Given the description of an element on the screen output the (x, y) to click on. 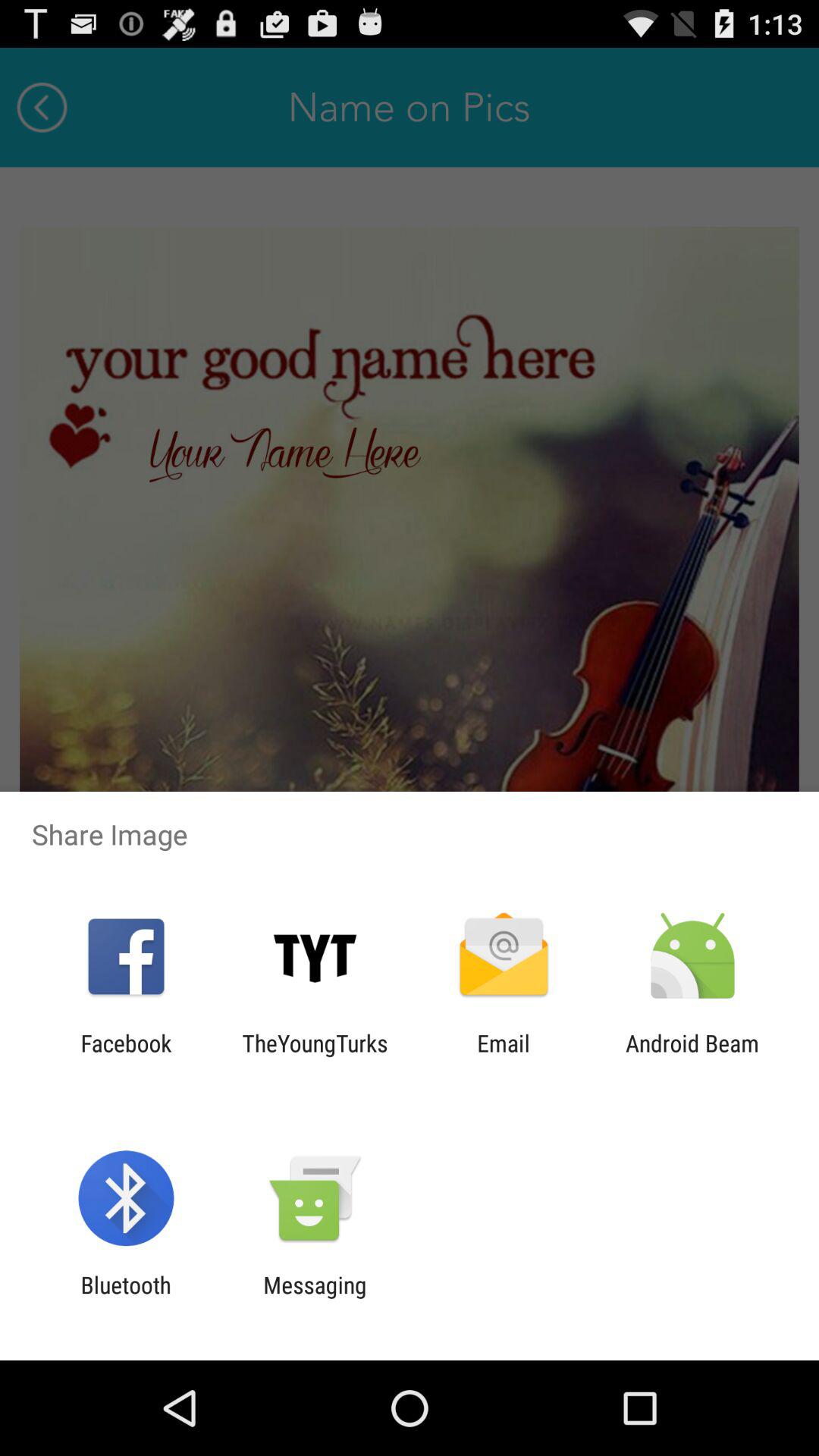
turn on the email item (503, 1056)
